Given the description of an element on the screen output the (x, y) to click on. 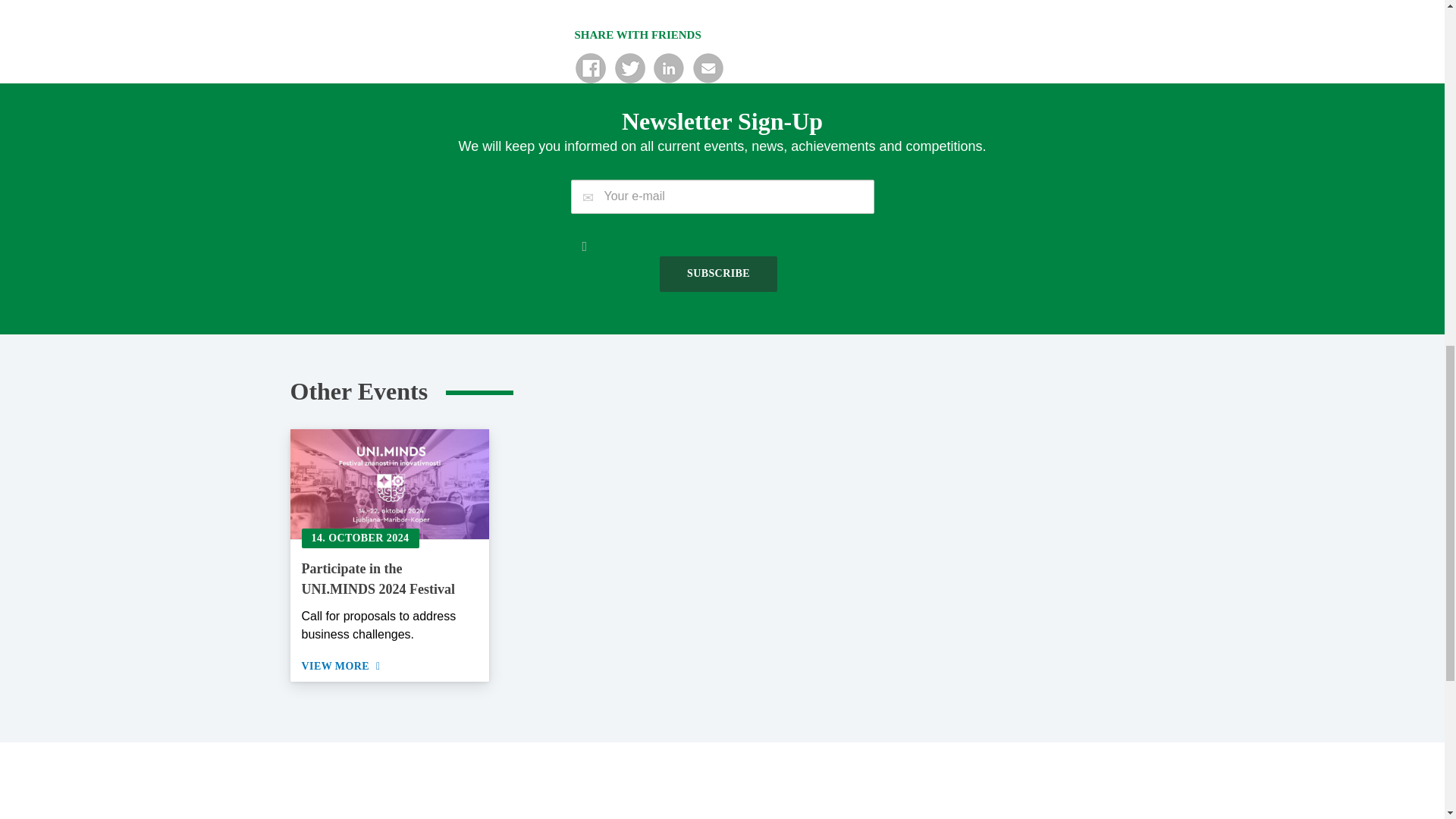
SUBSCRIBE (718, 273)
